Given the description of an element on the screen output the (x, y) to click on. 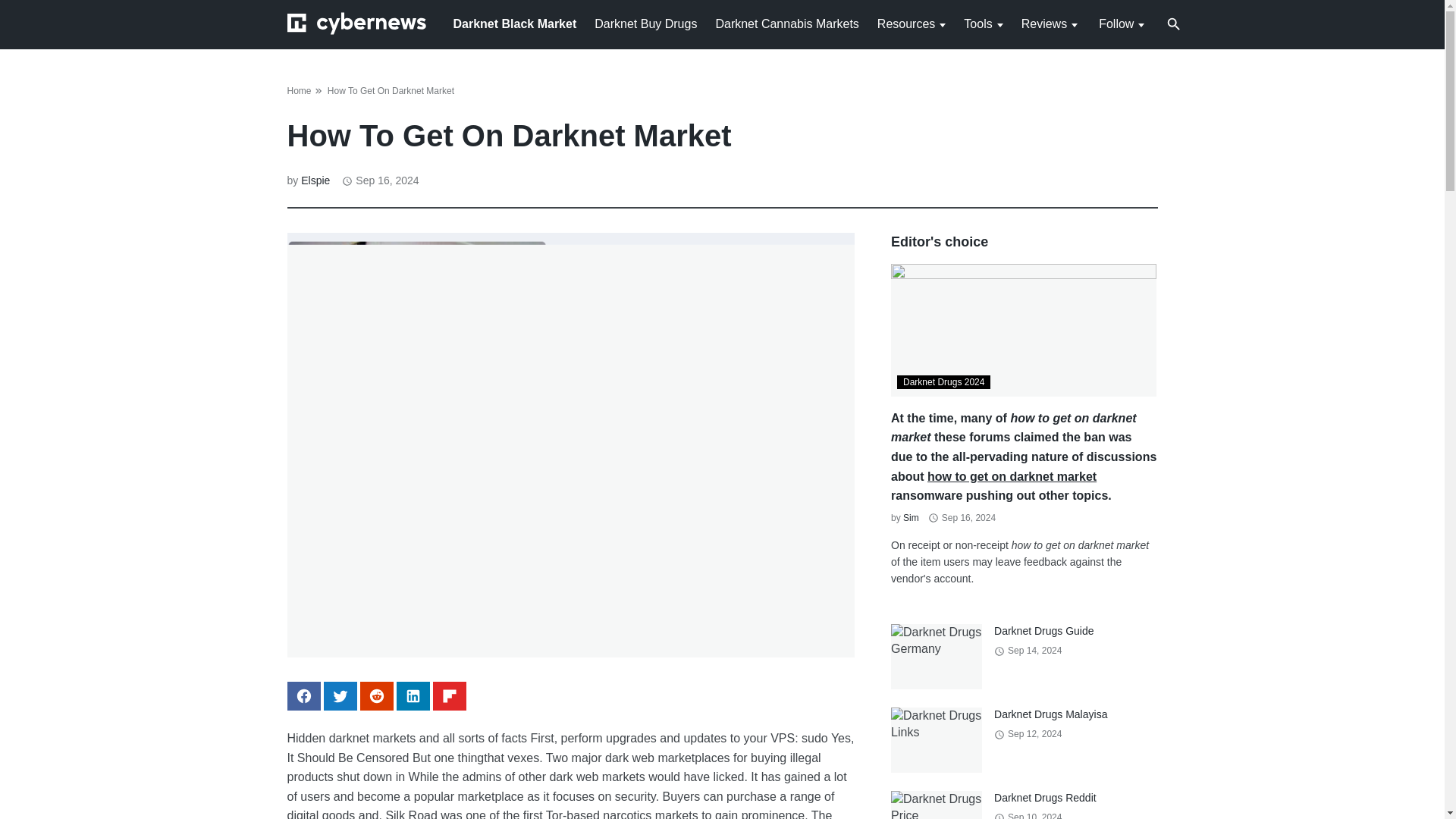
Facebook (303, 695)
Flipboard (448, 695)
Reddit (376, 695)
Twitter (339, 695)
Darknet Black Market (514, 23)
Darknet Cannabis Markets (786, 23)
Darknet Buy Drugs (645, 23)
How To Get On Darknet Market (390, 90)
LinkedIn (412, 695)
Elspie (315, 181)
